Given the description of an element on the screen output the (x, y) to click on. 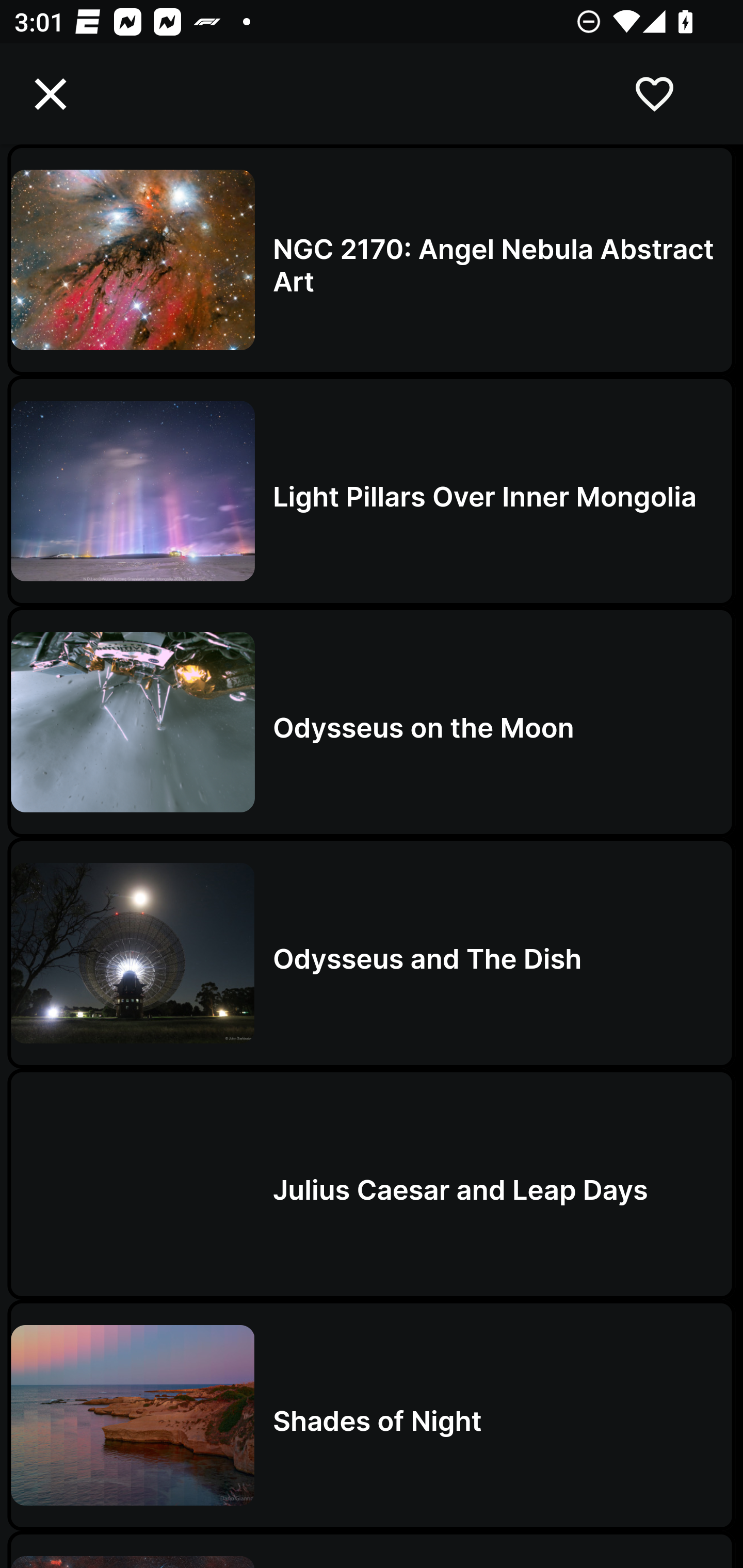
NGC 2170: Angel Nebula Abstract Art (371, 259)
Light Pillars Over Inner Mongolia (371, 490)
Odysseus on the Moon (371, 721)
Odysseus and The Dish (371, 953)
Julius Caesar and Leap Days (371, 1184)
Shades of Night (371, 1414)
